Given the description of an element on the screen output the (x, y) to click on. 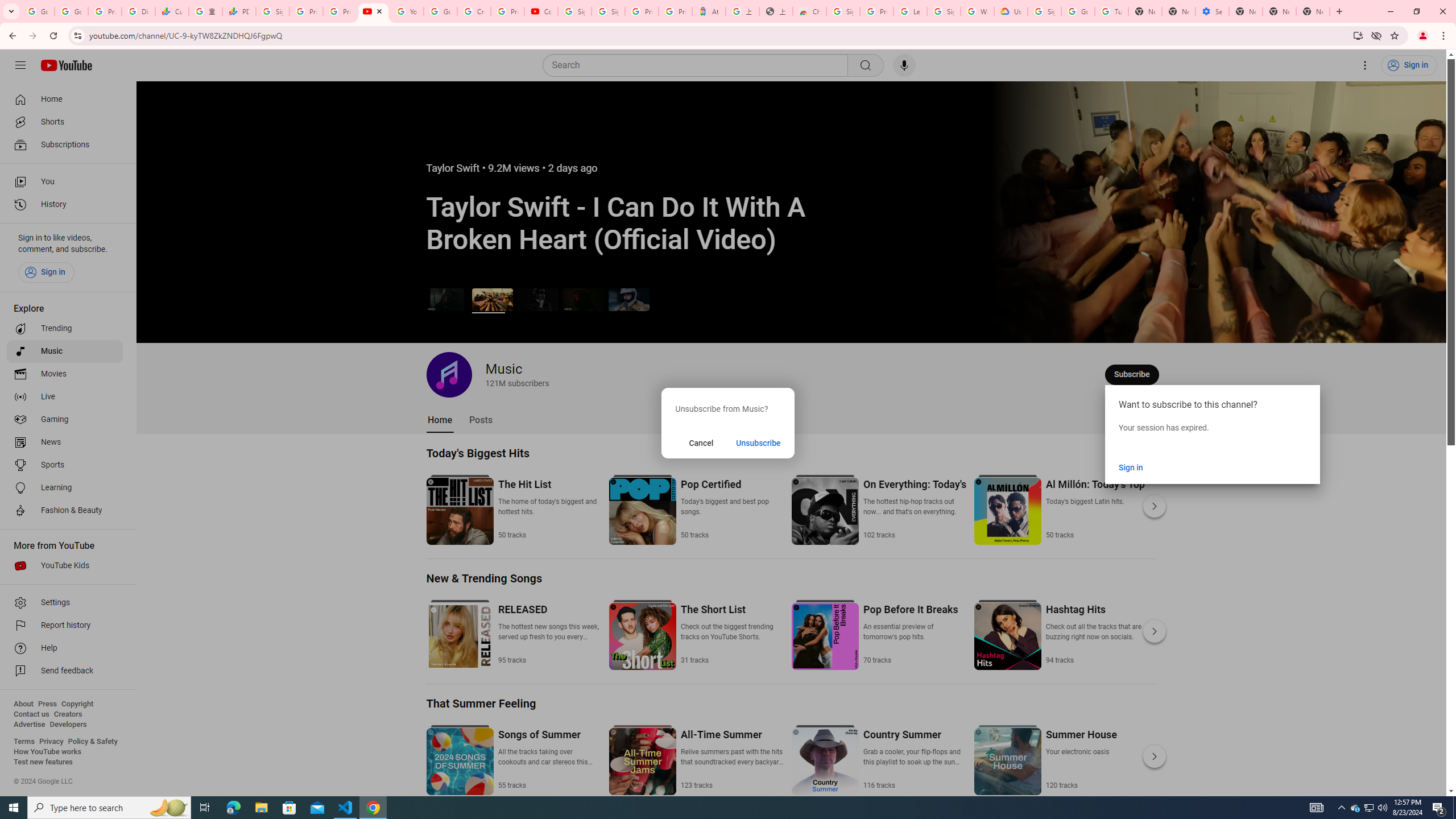
Subscriptions (64, 144)
Google Account Help (1077, 11)
Developers (68, 724)
Hozier - Nobody's Soldier (Official Video) (583, 299)
Chrome Web Store (809, 11)
YouTube Home (66, 65)
A$AP Rocky - HIGHJACK (Official Video) (537, 299)
New & Trending Songs (484, 578)
